Given the description of an element on the screen output the (x, y) to click on. 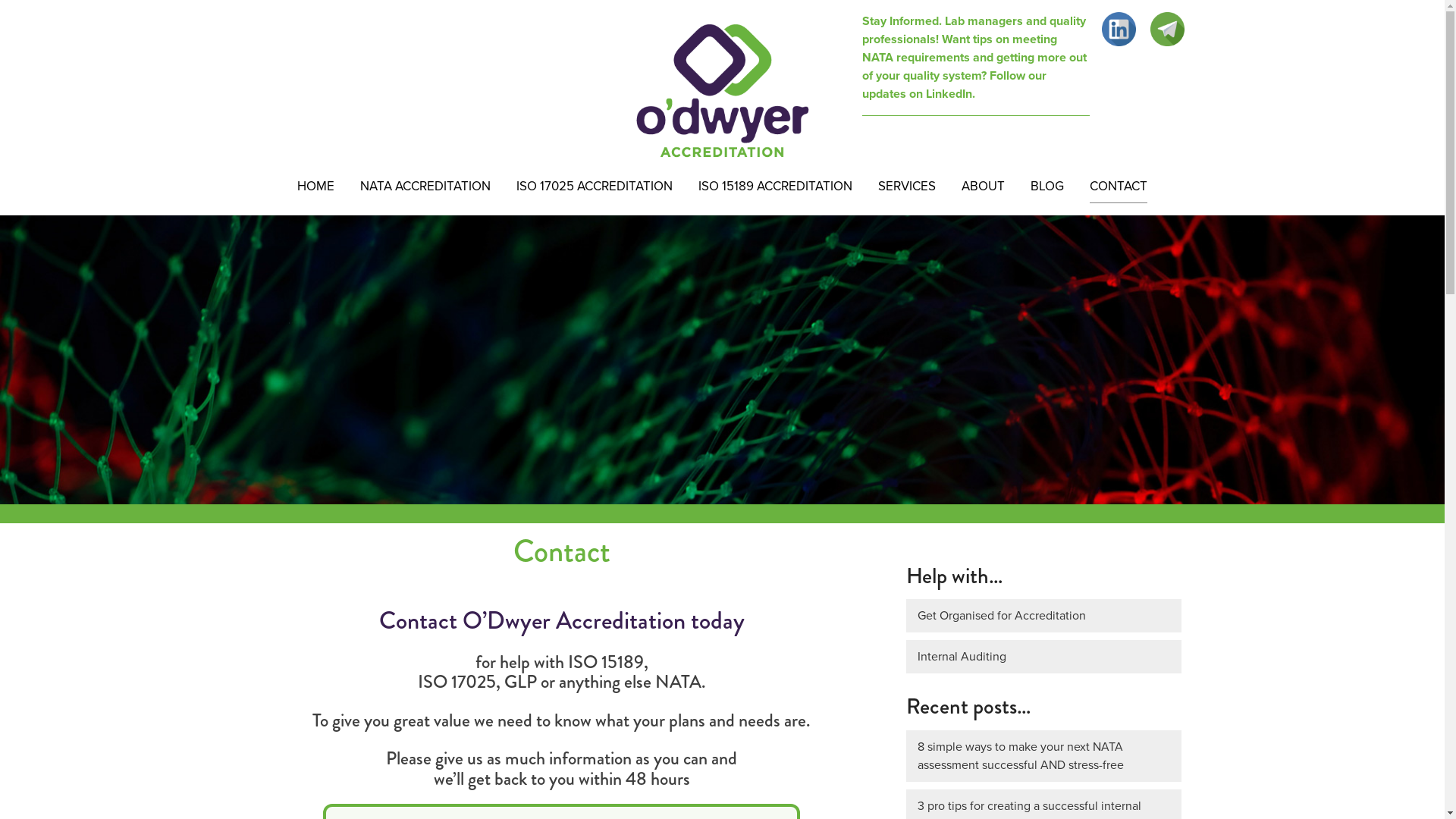
Get Organised for Accreditation Element type: text (1042, 615)
CONTACT Element type: text (1118, 186)
ISO 17025 ACCREDITATION Element type: text (594, 186)
Linkedin Element type: hover (1118, 29)
BLOG Element type: text (1046, 186)
SERVICES Element type: text (906, 186)
HOME Element type: text (315, 186)
ISO 15189 ACCREDITATION Element type: text (775, 186)
Internal Auditing Element type: text (1042, 656)
Mail Element type: hover (1166, 29)
ABOUT Element type: text (982, 186)
NATA ACCREDITATION Element type: text (425, 186)
